Given the description of an element on the screen output the (x, y) to click on. 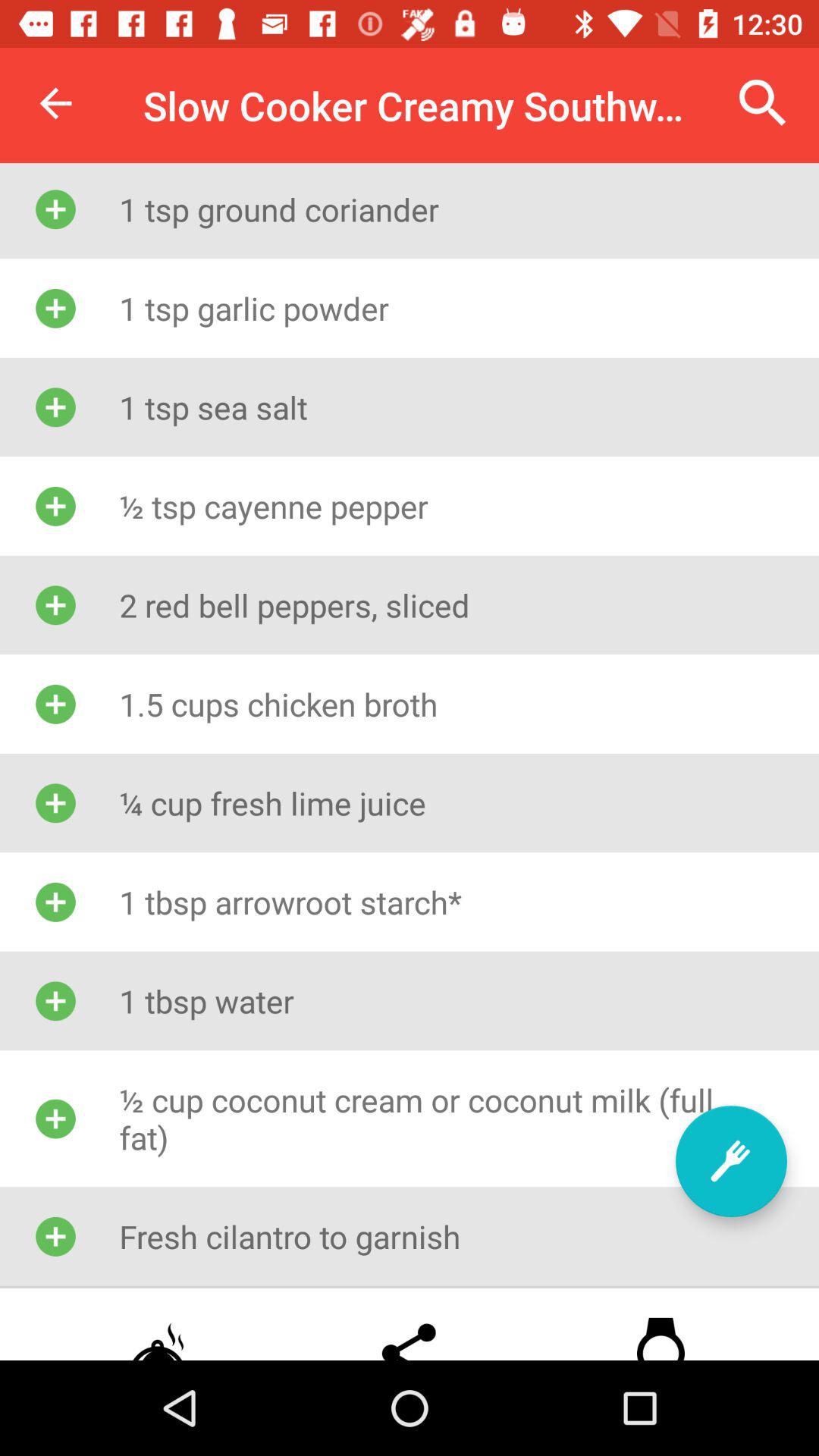
add ingredient (731, 1161)
